Given the description of an element on the screen output the (x, y) to click on. 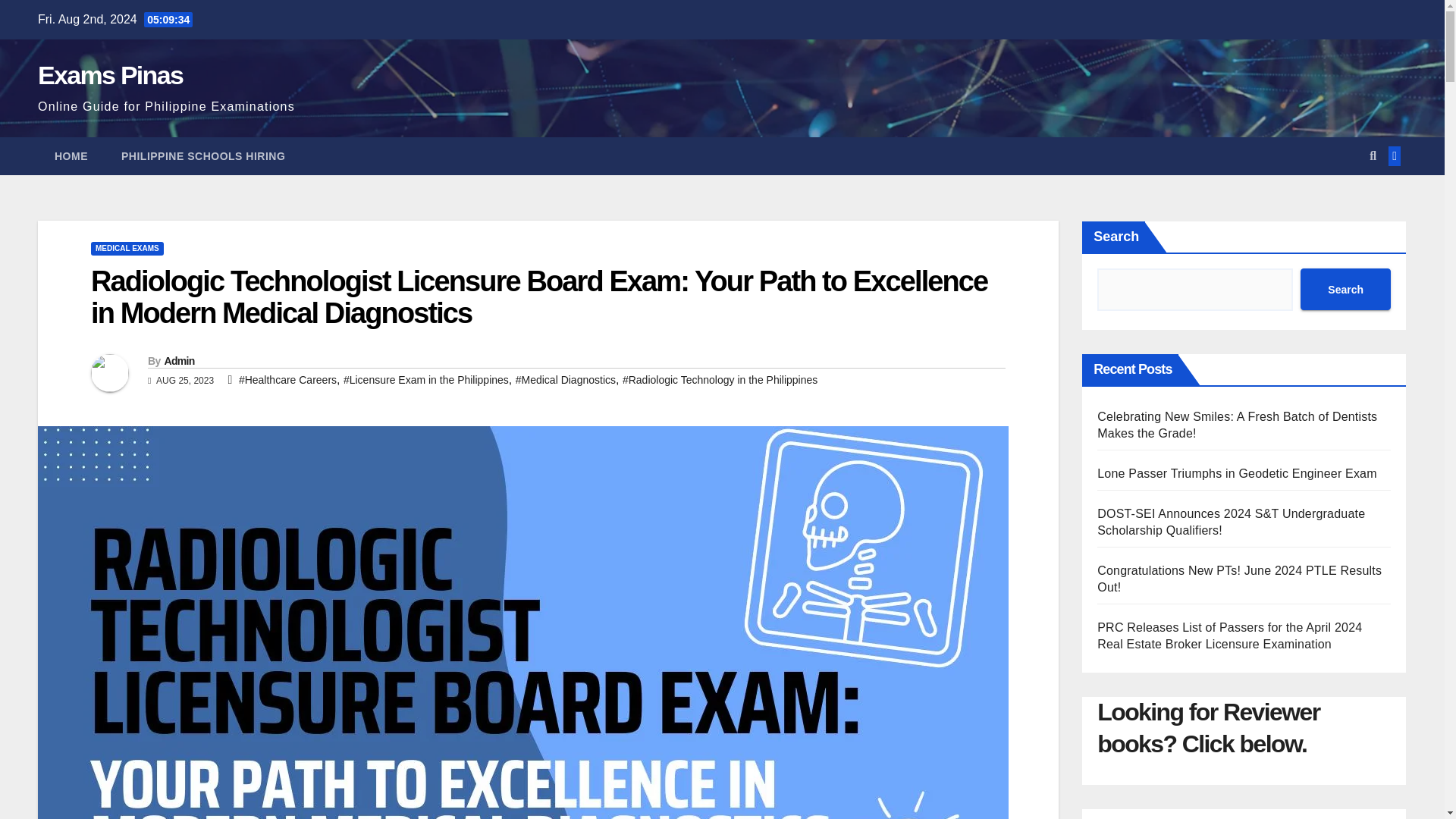
Exams Pinas (110, 74)
Admin (178, 360)
HOME (70, 156)
Home (70, 156)
PHILIPPINE SCHOOLS HIRING (202, 156)
MEDICAL EXAMS (126, 248)
